Given the description of an element on the screen output the (x, y) to click on. 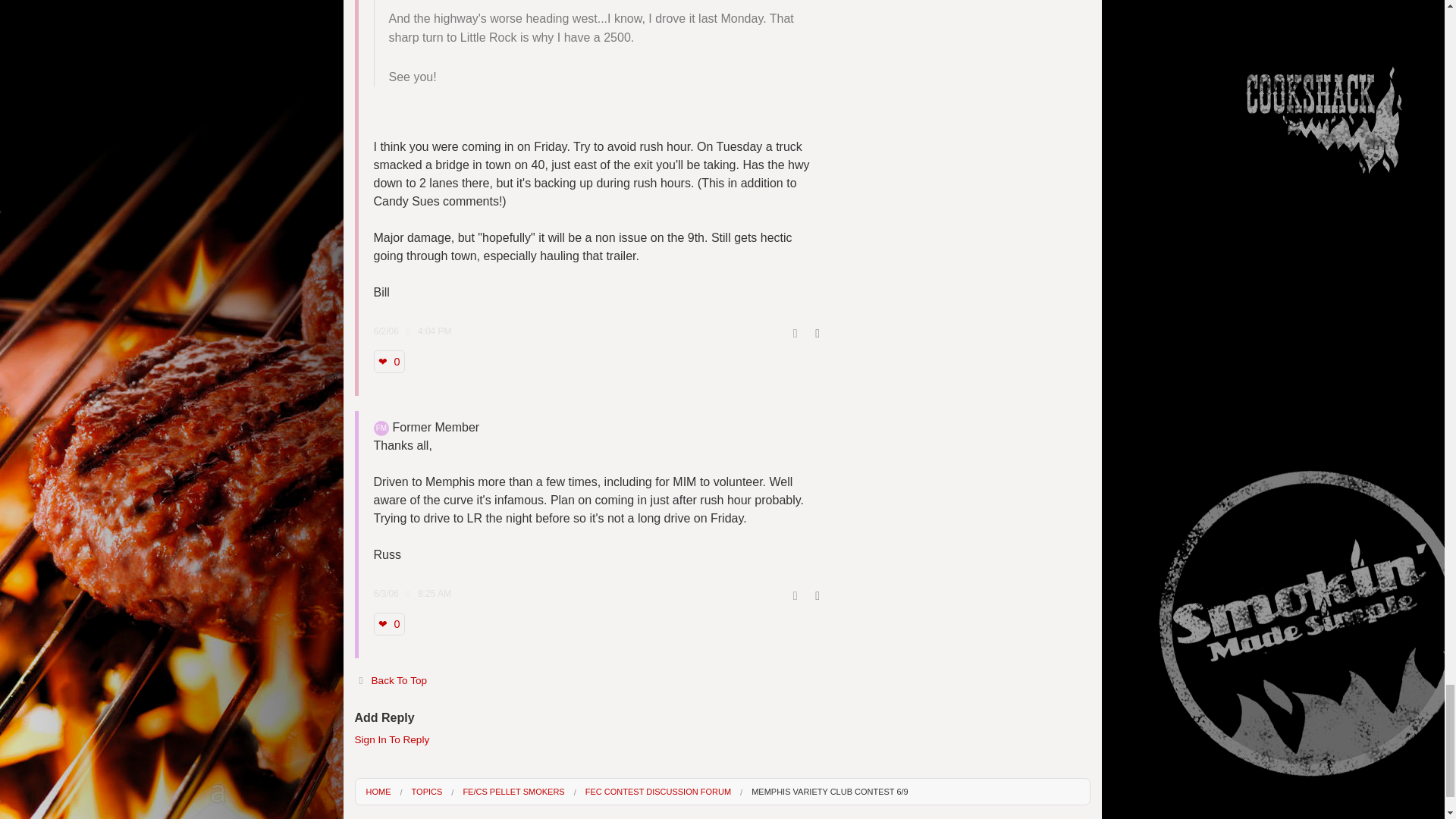
FM (380, 427)
